Given the description of an element on the screen output the (x, y) to click on. 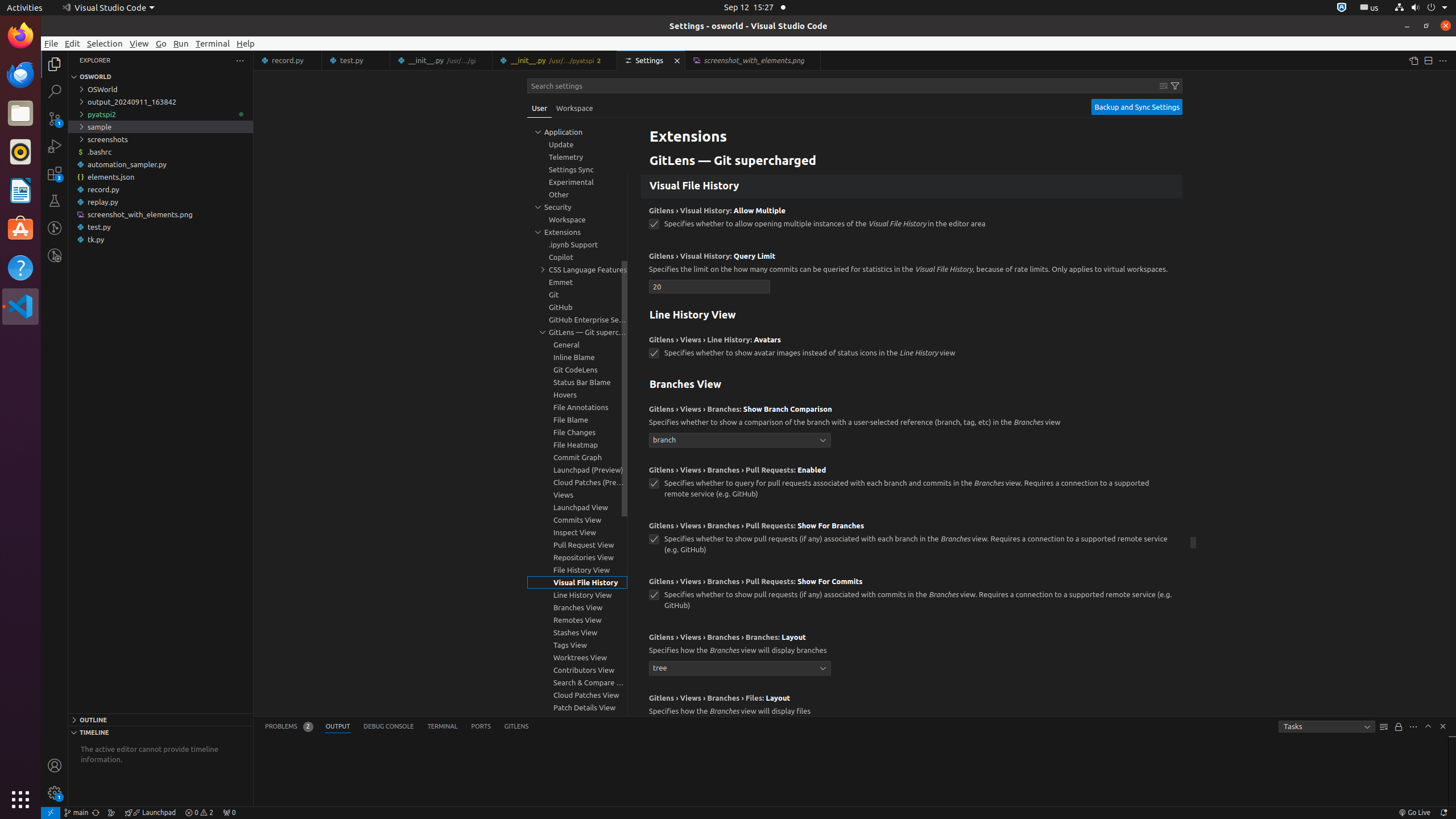
Git CodeLens, group Element type: tree-item (577, 369)
Notifications Element type: push-button (1443, 812)
Stashes View, group Element type: tree-item (577, 632)
Visual File History Element type: tree-item (911, 186)
